Given the description of an element on the screen output the (x, y) to click on. 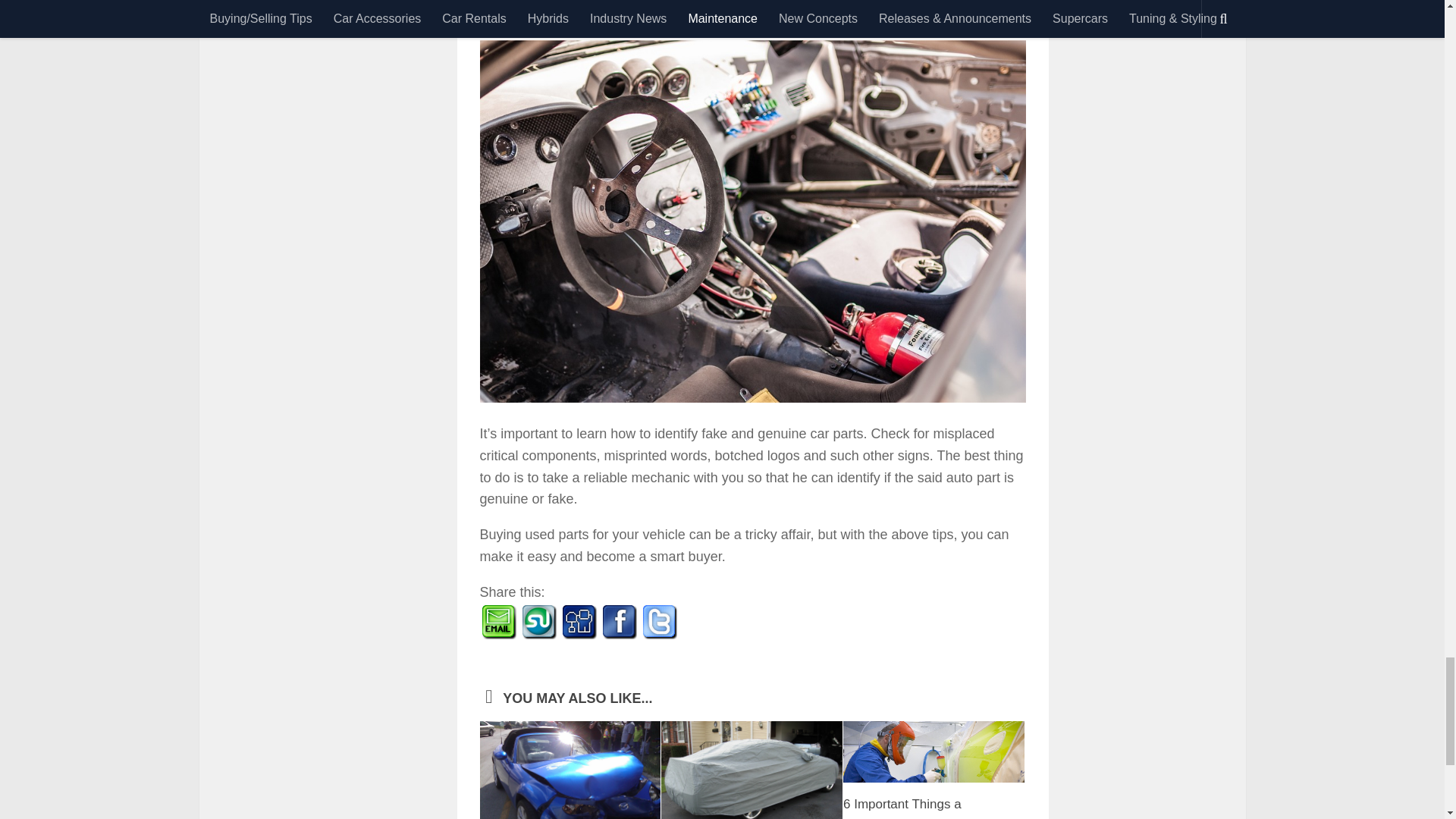
6 Important Things a Collision Repair Shop can Do for You (917, 807)
6 Important Things a Collision Repair Shop can Do for You (934, 751)
How to get your car ready for long term Storage (752, 770)
6 Important Things a Collision Repair Shop can Do for You (917, 807)
